Given the description of an element on the screen output the (x, y) to click on. 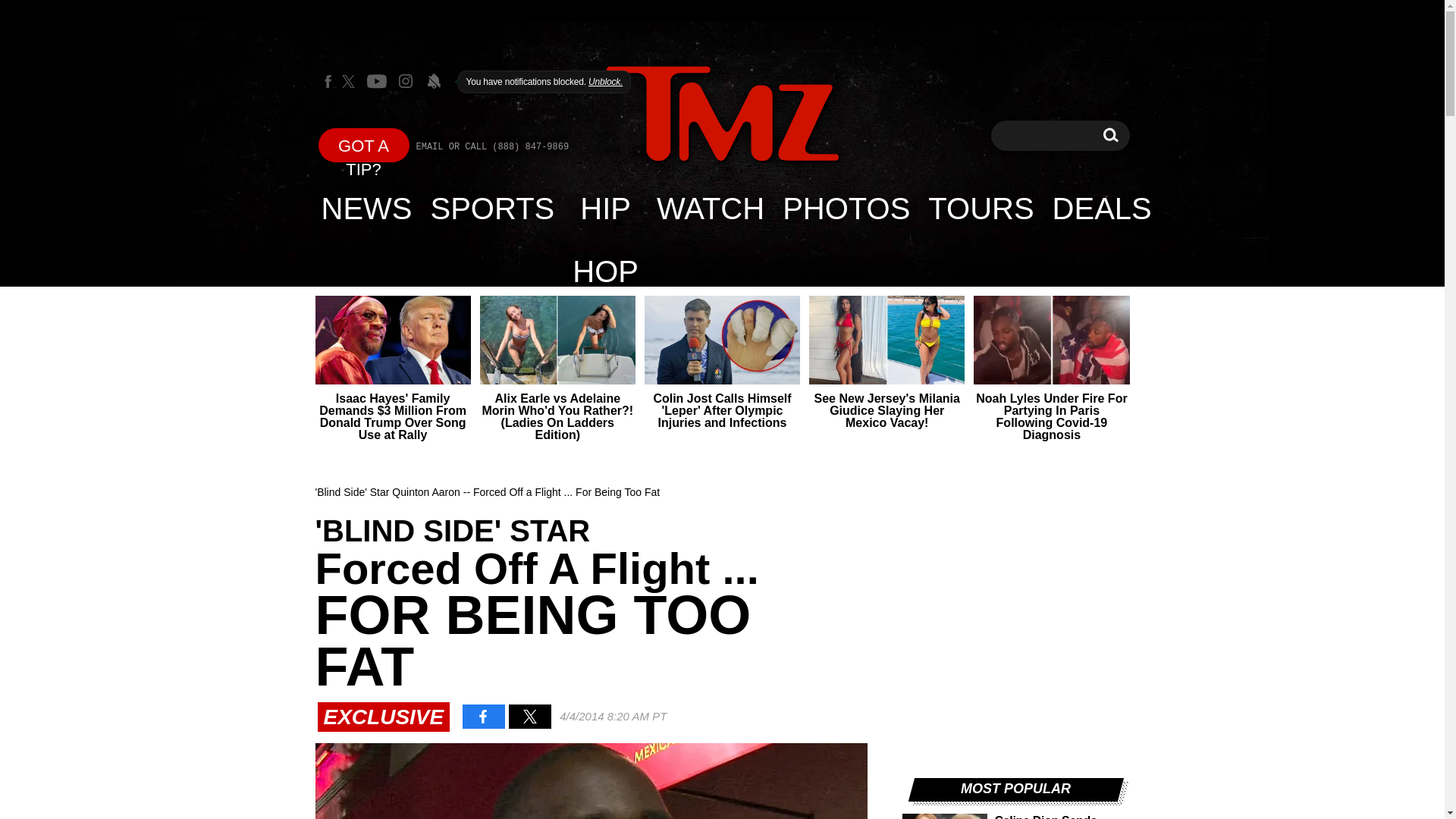
HIP HOP (605, 207)
TMZ (722, 115)
NEWS (367, 207)
TMZ (722, 113)
Search (1110, 134)
GOT A TIP? (363, 144)
DEALS (1101, 207)
SPORTS (493, 207)
